Given the description of an element on the screen output the (x, y) to click on. 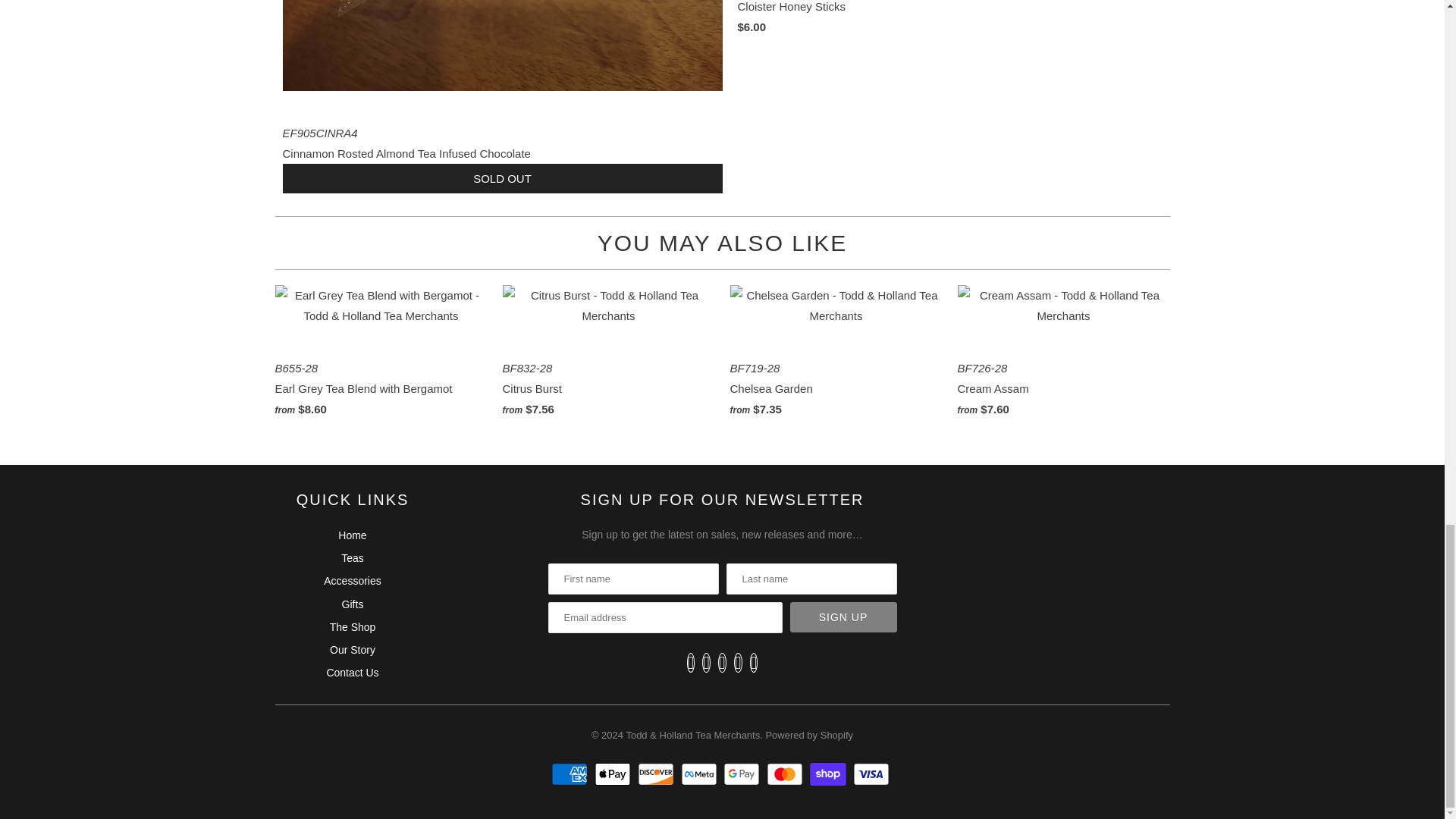
Google Pay (742, 773)
Shop Pay (829, 773)
Discover (657, 773)
Apple Pay (614, 773)
Mastercard (786, 773)
Meta Pay (700, 773)
Visa (873, 773)
American Express (571, 773)
Sign Up (843, 616)
